Given the description of an element on the screen output the (x, y) to click on. 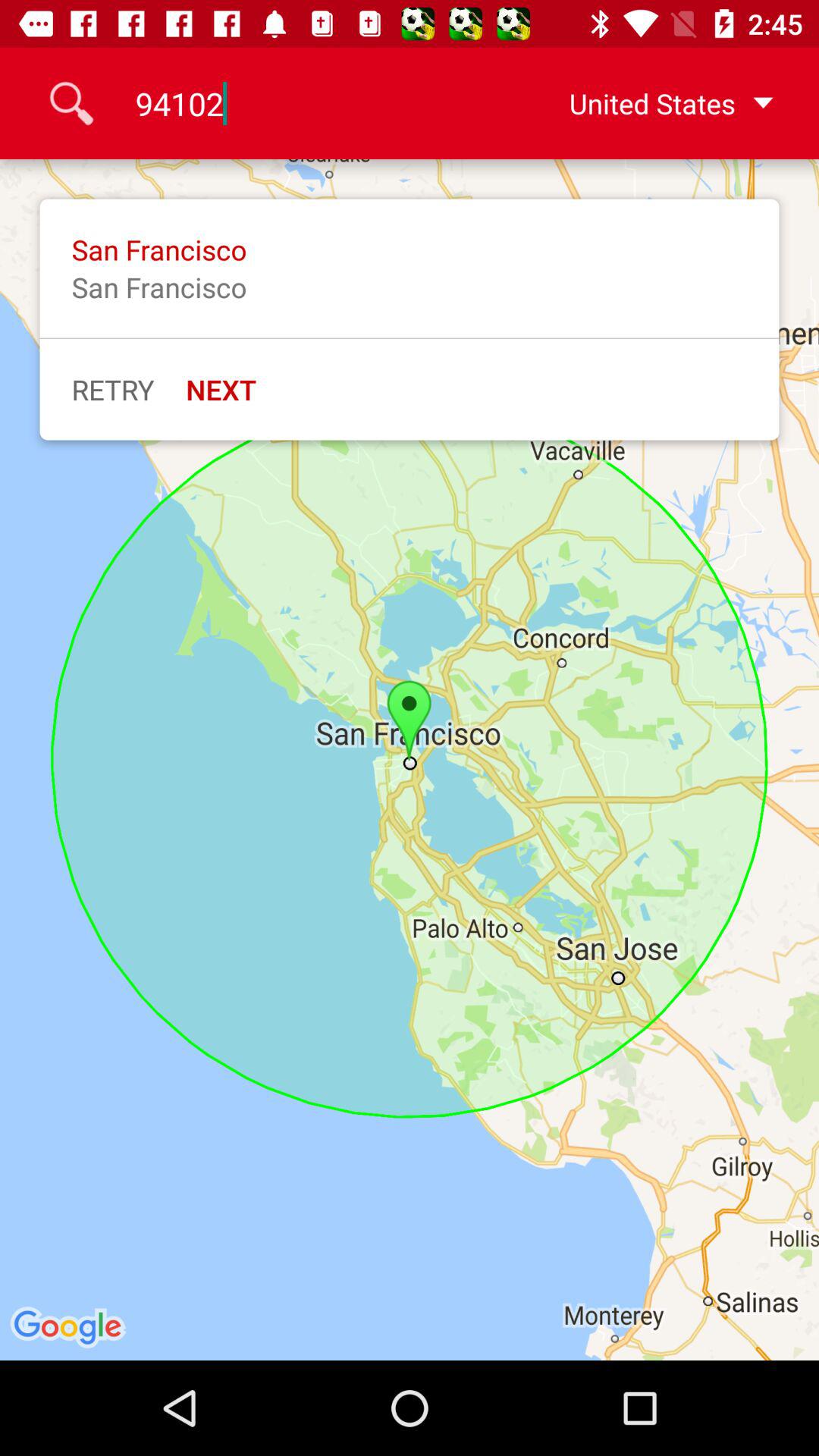
turn off icon to the right of the 94102 (647, 103)
